Given the description of an element on the screen output the (x, y) to click on. 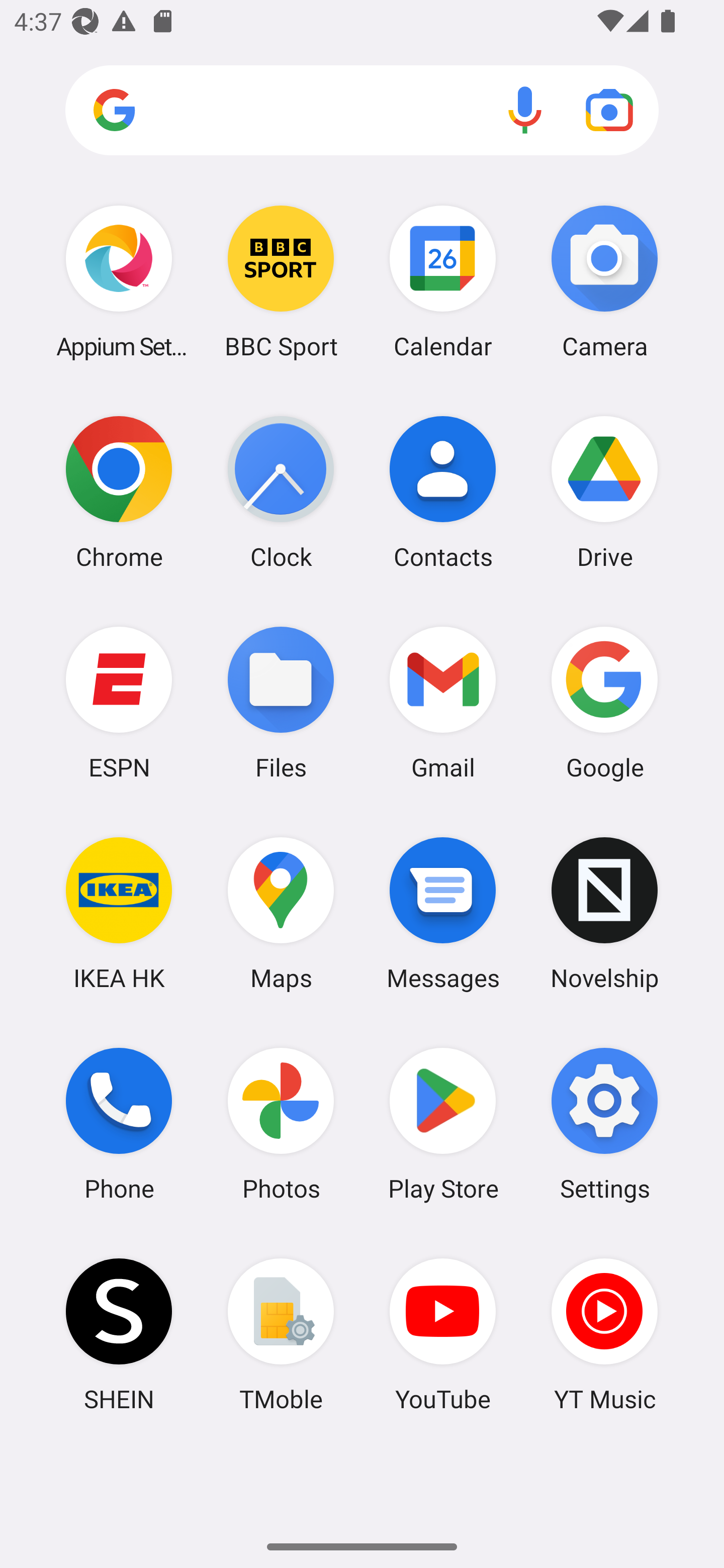
Search apps, web and more (361, 110)
Voice search (524, 109)
Google Lens (608, 109)
Appium Settings (118, 281)
BBC Sport (280, 281)
Calendar (443, 281)
Camera (604, 281)
Chrome (118, 492)
Clock (280, 492)
Contacts (443, 492)
Drive (604, 492)
ESPN (118, 702)
Files (280, 702)
Gmail (443, 702)
Google (604, 702)
IKEA HK (118, 913)
Maps (280, 913)
Messages (443, 913)
Novelship (604, 913)
Phone (118, 1124)
Photos (280, 1124)
Play Store (443, 1124)
Settings (604, 1124)
SHEIN (118, 1334)
TMoble (280, 1334)
YouTube (443, 1334)
YT Music (604, 1334)
